Given the description of an element on the screen output the (x, y) to click on. 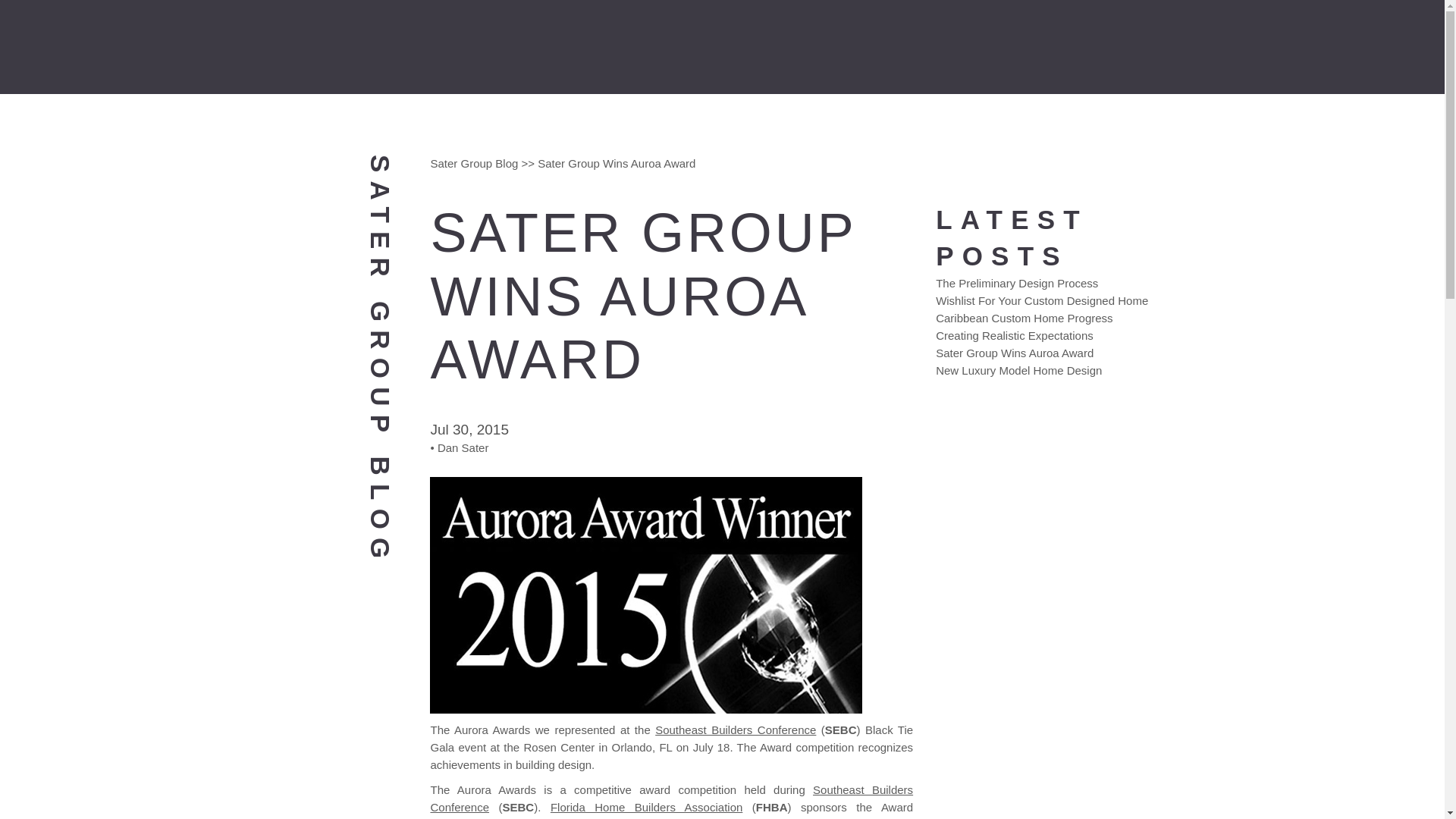
Southeast Builders Conference (735, 729)
Wishlist For Your Custom Designed Home (1042, 300)
Creating Realistic Expectations (1014, 335)
Sater Group Blog (473, 163)
Florida Home Builders Association (646, 807)
New Luxury Model Home Design (1019, 369)
Southeast Builders Conference (670, 798)
The Preliminary Design Process (1016, 282)
Caribbean Custom Home Progress (1024, 318)
Sater Group Wins Auroa Award (1014, 352)
